Given the description of an element on the screen output the (x, y) to click on. 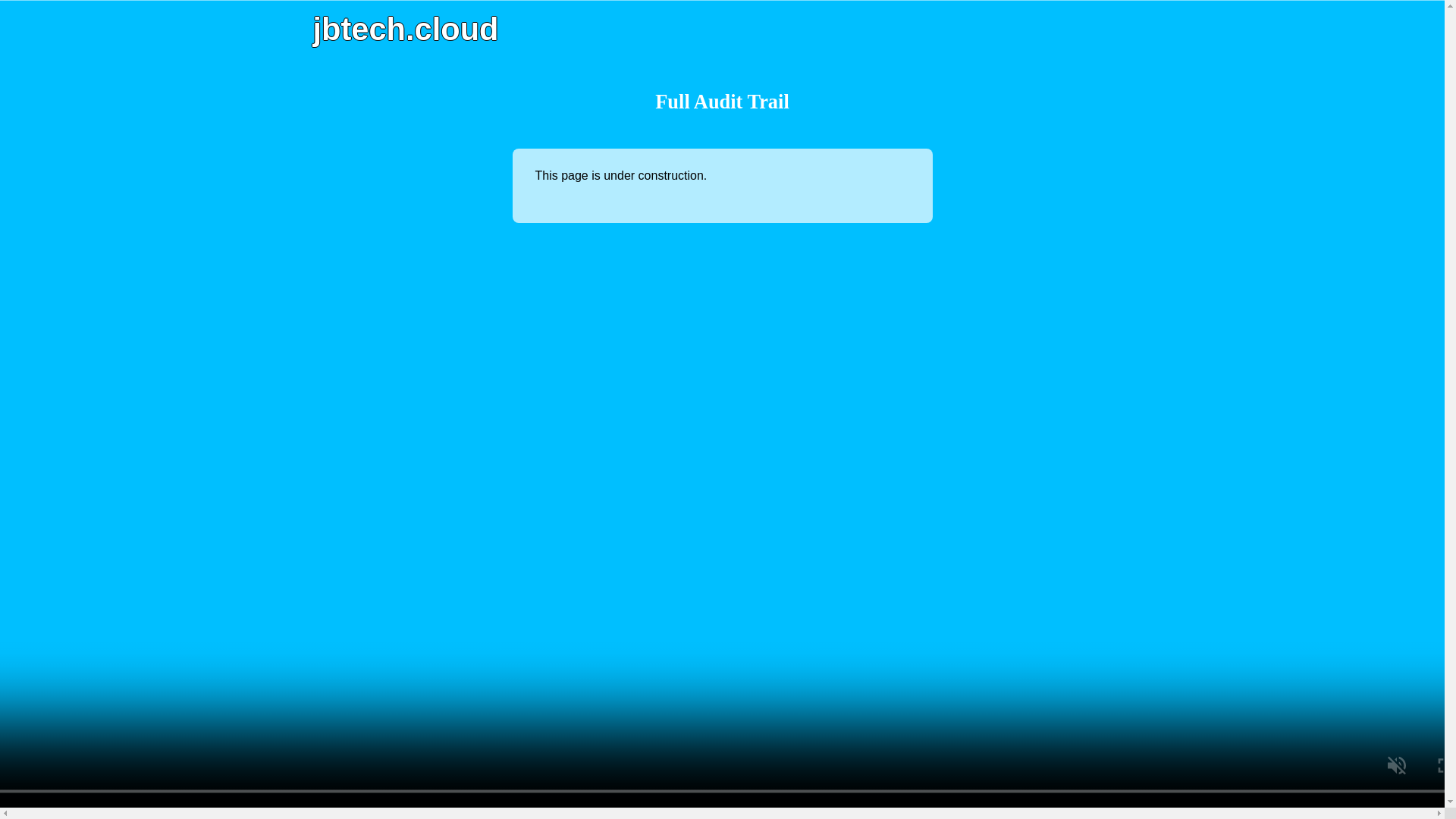
jbtech.cloud (405, 28)
Home (405, 28)
Skip to search (34, 0)
